Given the description of an element on the screen output the (x, y) to click on. 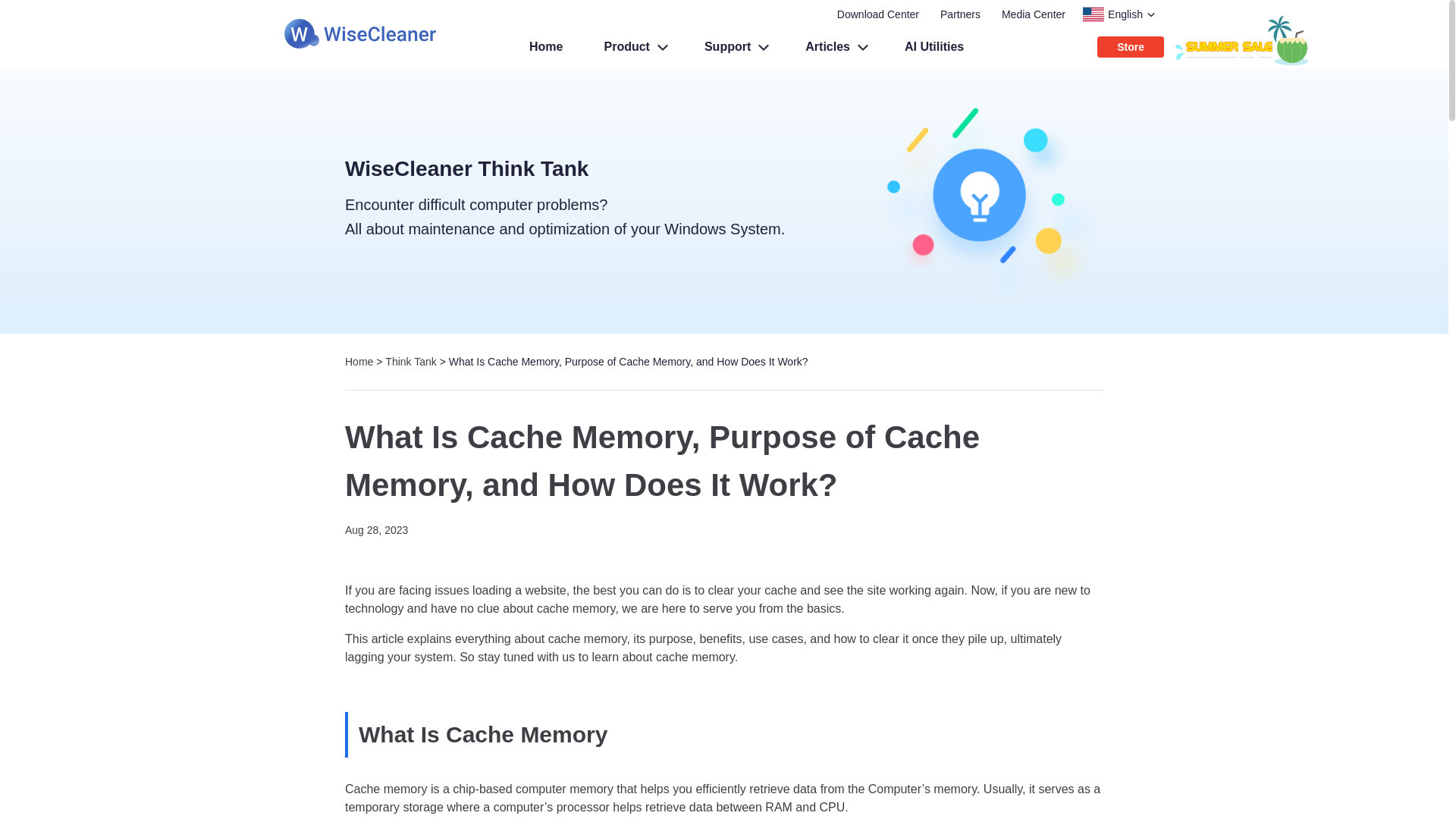
Download Center (877, 13)
Partners (959, 13)
Media Center (1033, 13)
Home (543, 46)
Product (630, 46)
